Given the description of an element on the screen output the (x, y) to click on. 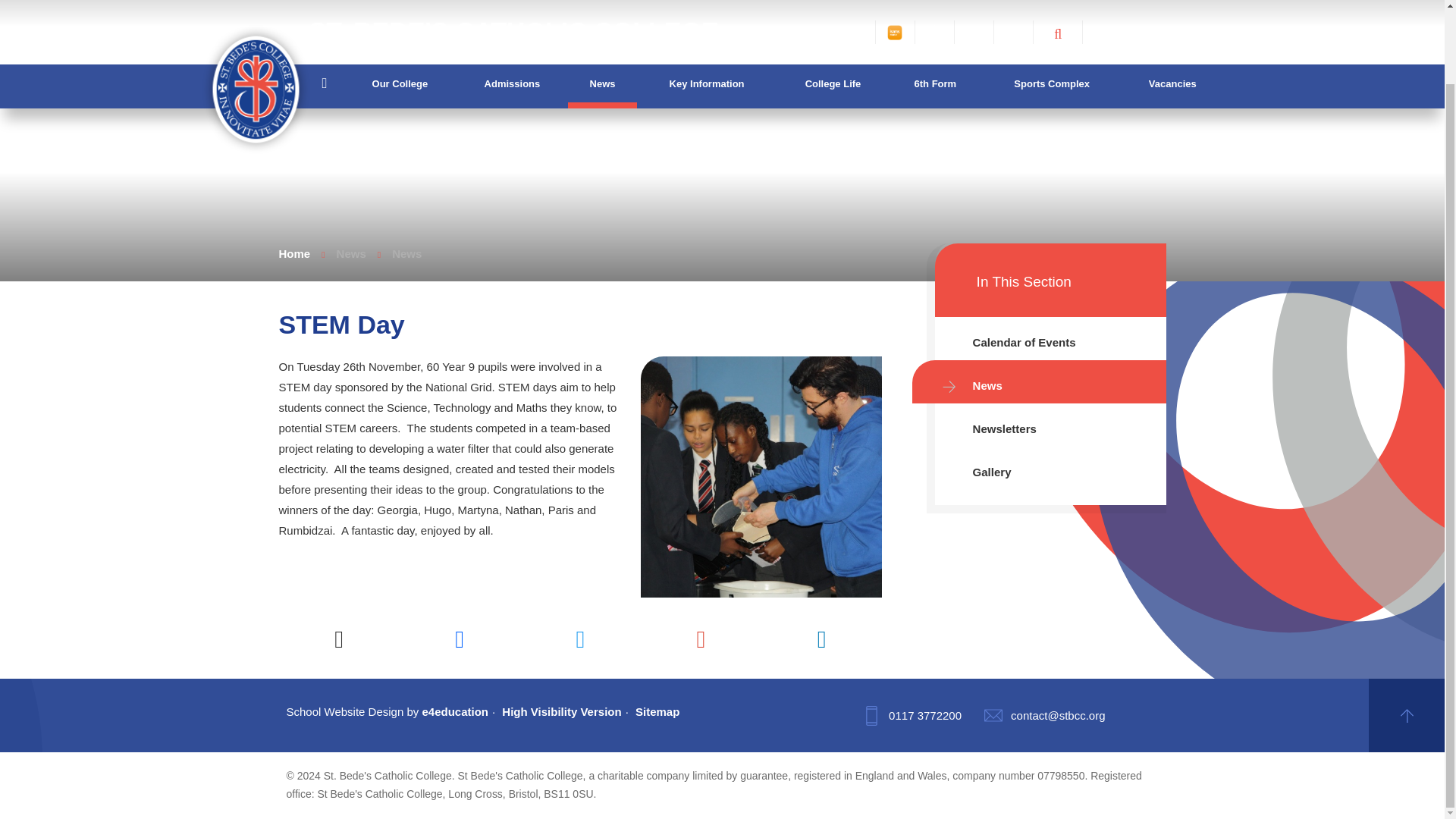
Home (323, 9)
Our College (399, 8)
